Given the description of an element on the screen output the (x, y) to click on. 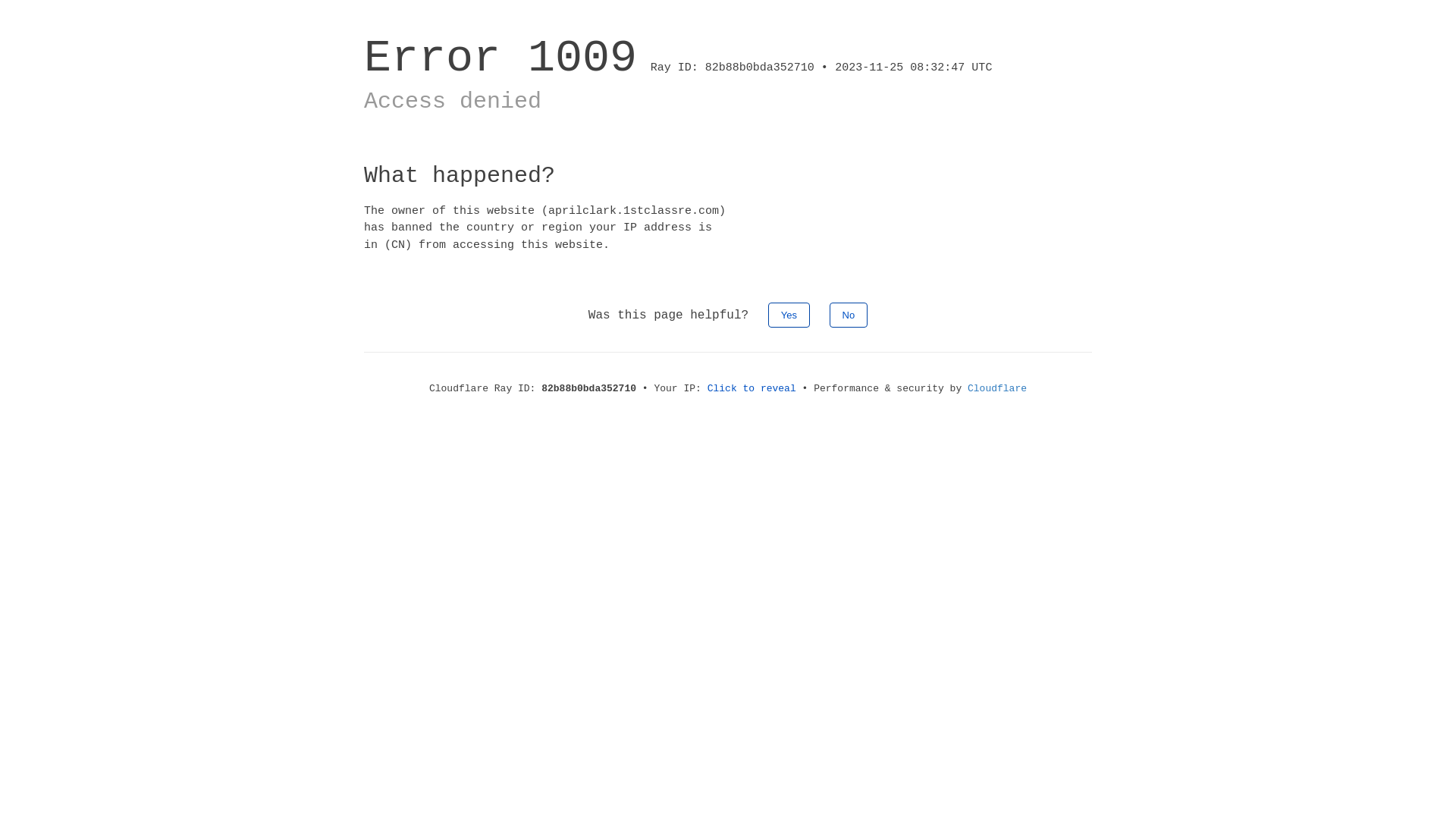
Cloudflare Element type: text (996, 388)
Click to reveal Element type: text (751, 388)
Yes Element type: text (788, 314)
No Element type: text (848, 314)
